Given the description of an element on the screen output the (x, y) to click on. 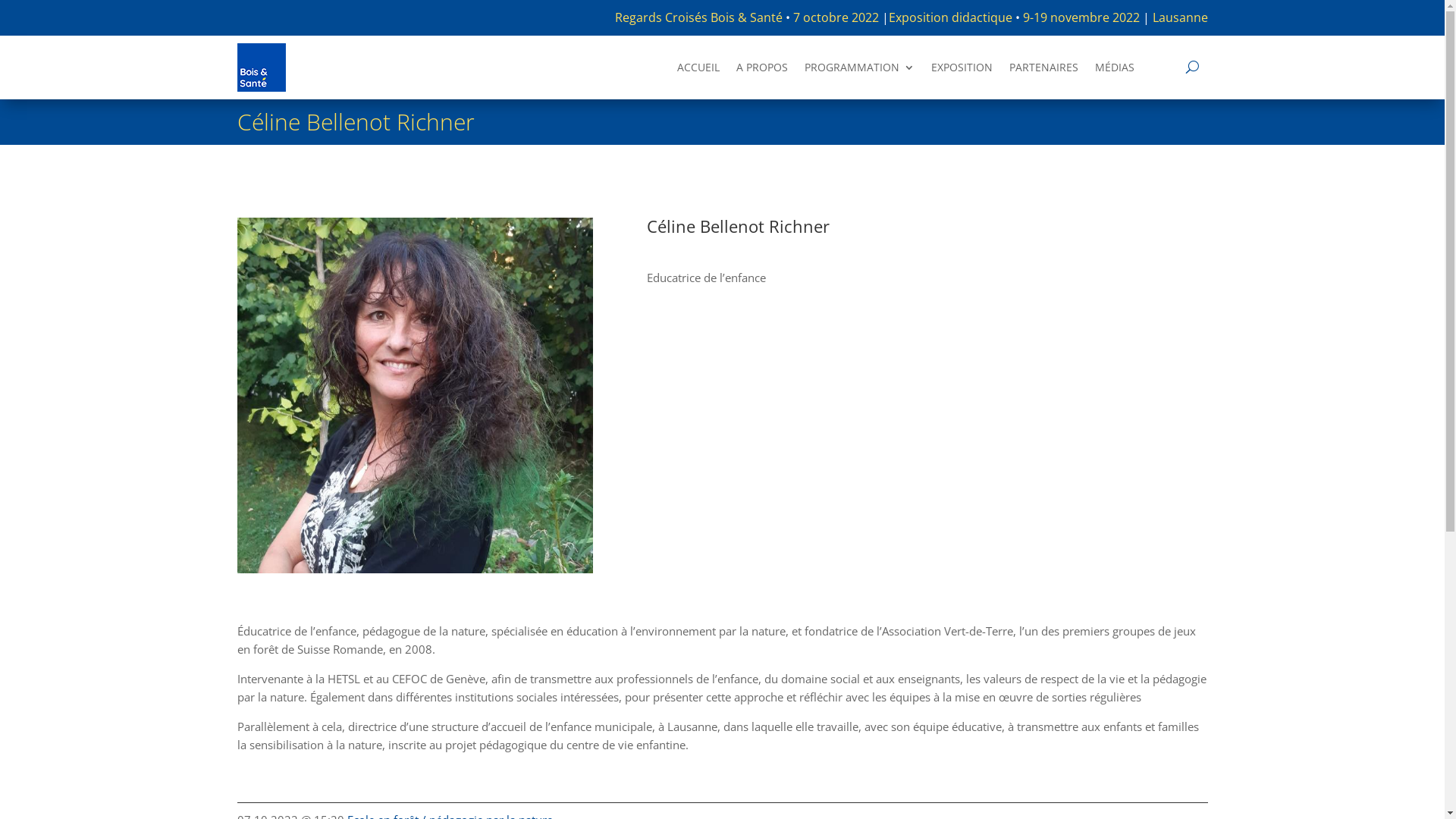
logo-64 Element type: hover (260, 66)
PROGRAMMATION Element type: text (859, 70)
A PROPOS Element type: text (761, 70)
EXPOSITION Element type: text (961, 70)
ACCUEIL Element type: text (698, 70)
PARTENAIRES Element type: text (1043, 70)
